Given the description of an element on the screen output the (x, y) to click on. 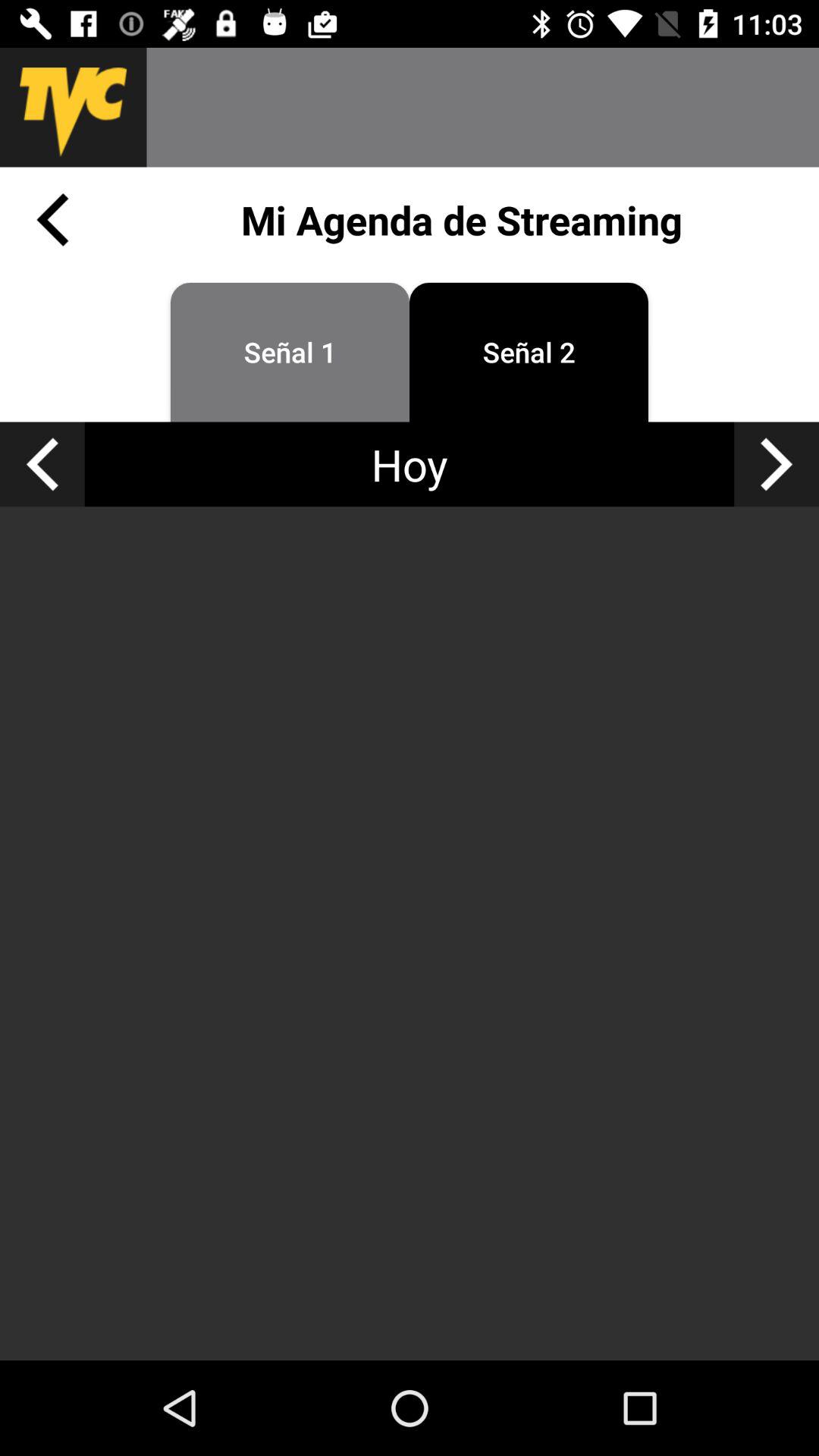
search bar (482, 107)
